Given the description of an element on the screen output the (x, y) to click on. 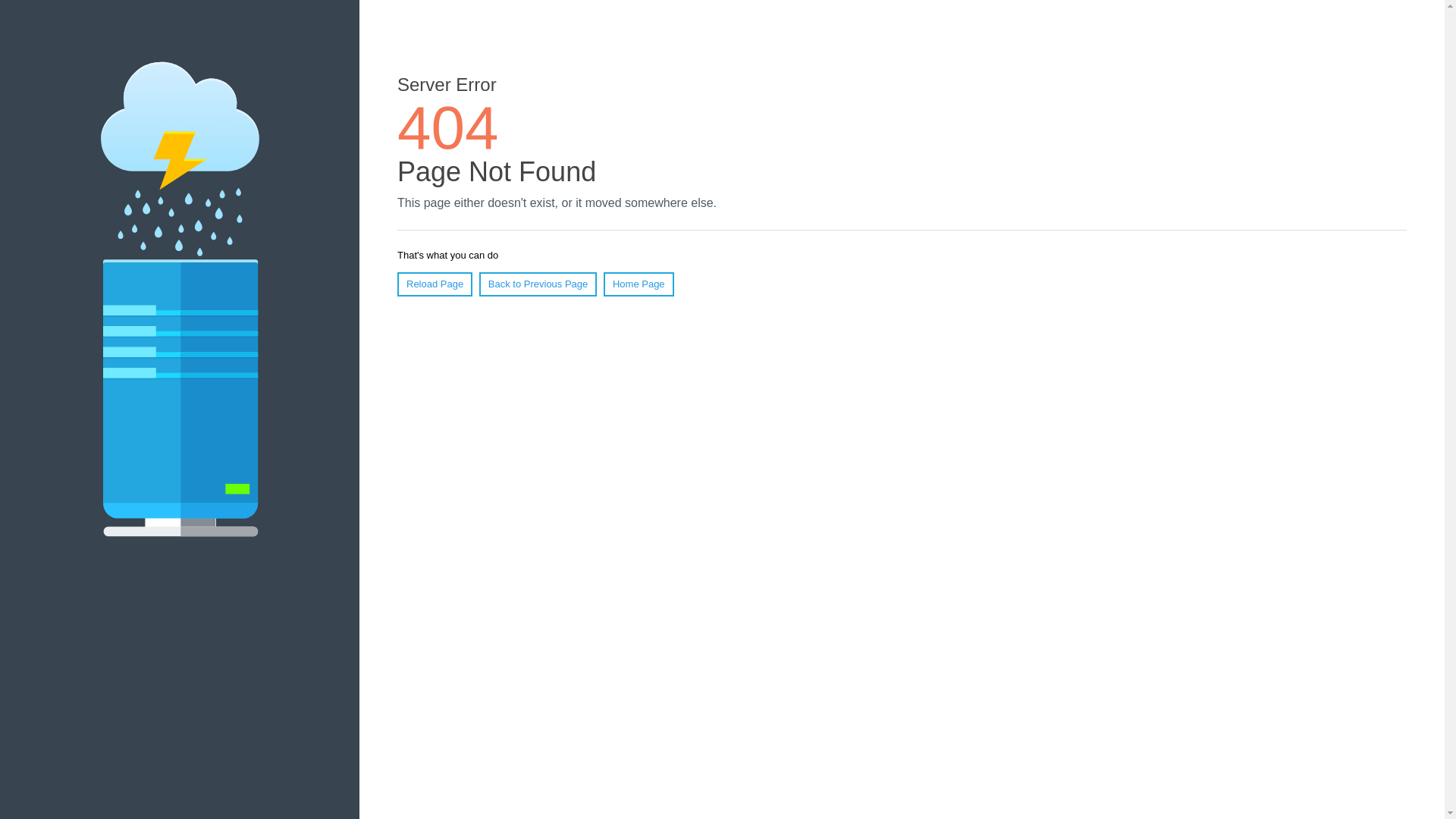
Back to Previous Page Element type: text (538, 284)
Home Page Element type: text (638, 284)
Reload Page Element type: text (434, 284)
